Given the description of an element on the screen output the (x, y) to click on. 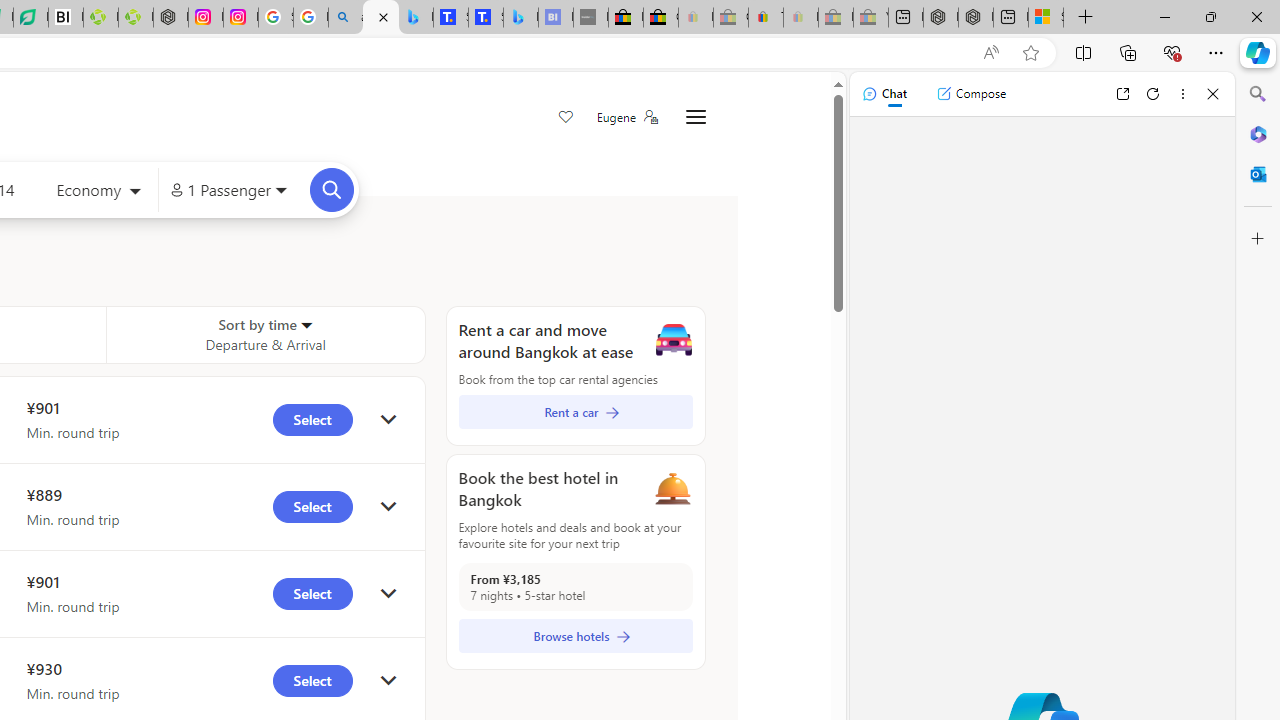
alabama high school quarterback dies - Search (346, 17)
Nordace - Nordace Edin Collection (170, 17)
Threats and offensive language policy | eBay (765, 17)
Sort by time Sorter Departure & Arrival (265, 334)
